Given the description of an element on the screen output the (x, y) to click on. 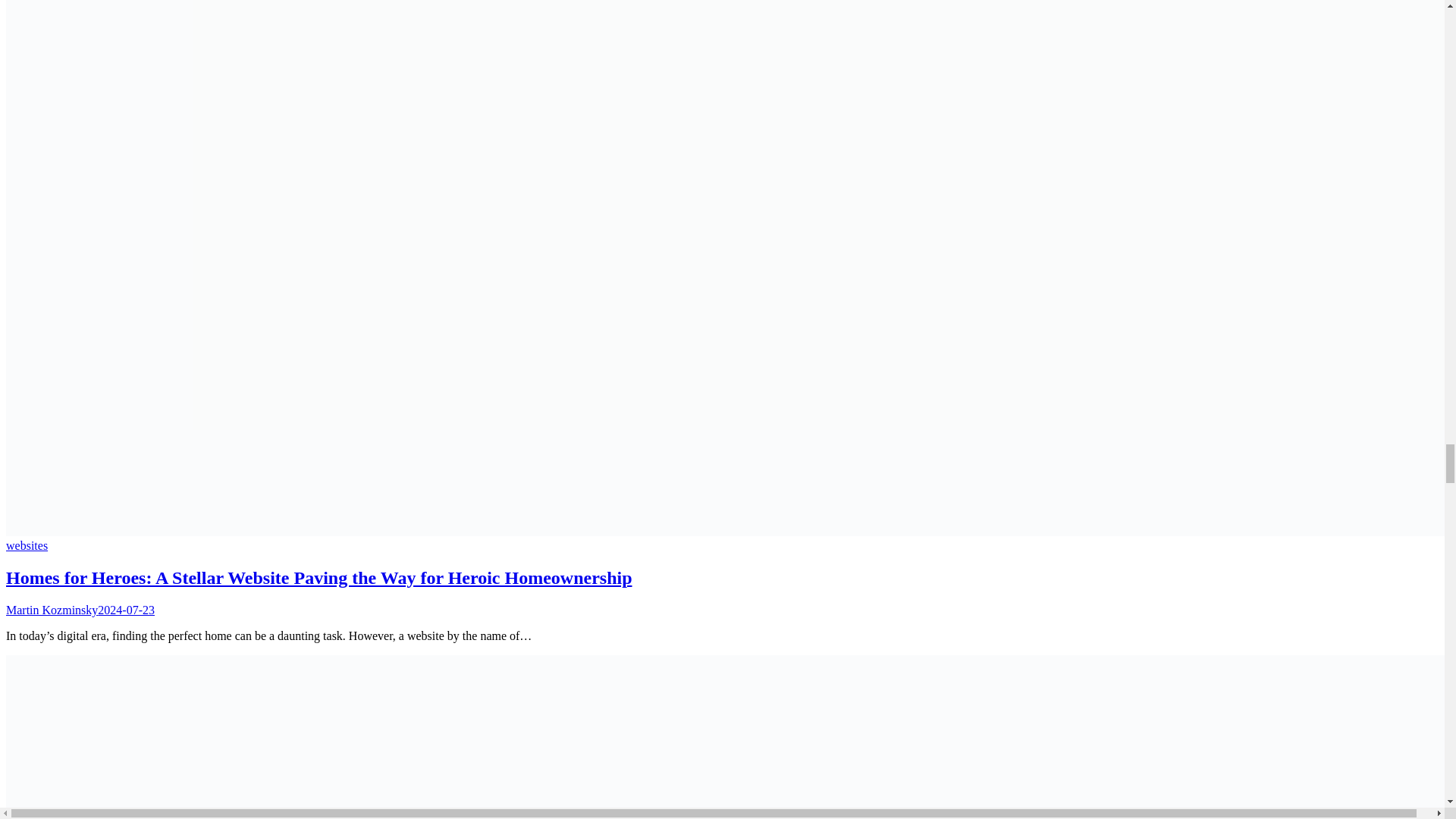
Martin Kozminsky (51, 609)
2024-07-23 (125, 609)
websites (26, 545)
